Given the description of an element on the screen output the (x, y) to click on. 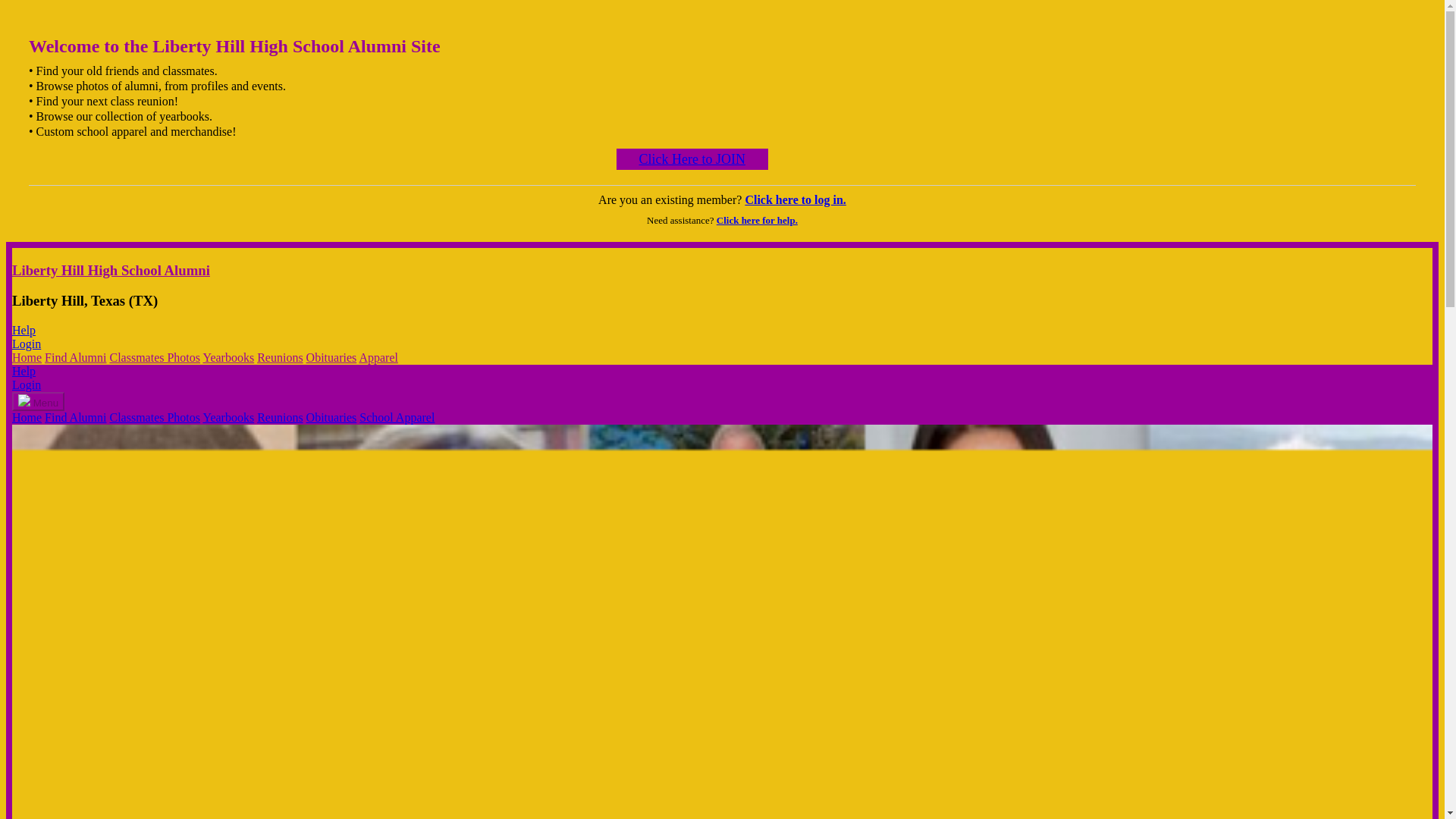
Obituaries (330, 357)
Liberty Hill High School Classmates Photos (154, 357)
Login (25, 384)
Find Liberty Hill High School Reunions (279, 357)
Apparel (377, 357)
Liberty Hill High School Alumni (110, 270)
Obituaries (330, 417)
Find Alumni (75, 417)
Liberty Hill High School Alumni Home (26, 357)
Login (25, 343)
School Apparel (396, 417)
Register as an alumni of Liberty Hill High School Alumni (691, 158)
Reunions (279, 417)
Liberty Hill High School Obituaries (330, 417)
Click here for help. (756, 220)
